Given the description of an element on the screen output the (x, y) to click on. 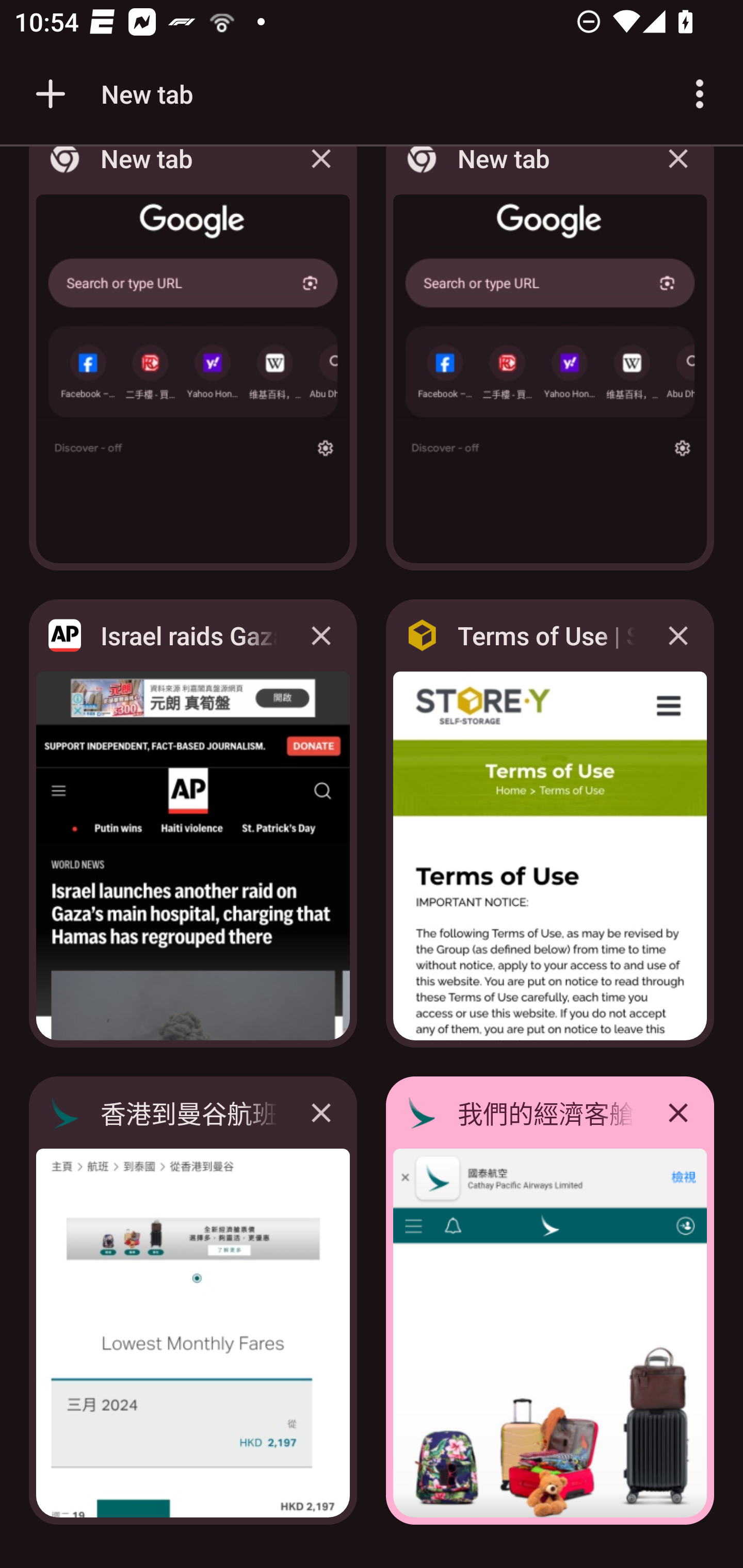
New tab (111, 93)
Customize and control Google Chrome (699, 93)
New tab New tab, tab Close New tab tab (192, 364)
Close New tab tab (320, 173)
New tab New tab, tab Close New tab tab (549, 364)
Close New tab tab (677, 173)
Close Terms of Use | Store-Y Self Storage tab (677, 635)
我們的經濟客艙票價 我們的經濟客艙票價, tab Close 我們的經濟客艙票價 tab (549, 1300)
Close 香港到曼谷航班 | 香港去曼谷機票優惠 | 國泰航空 tab (320, 1112)
Close 我們的經濟客艙票價 tab (677, 1112)
